Given the description of an element on the screen output the (x, y) to click on. 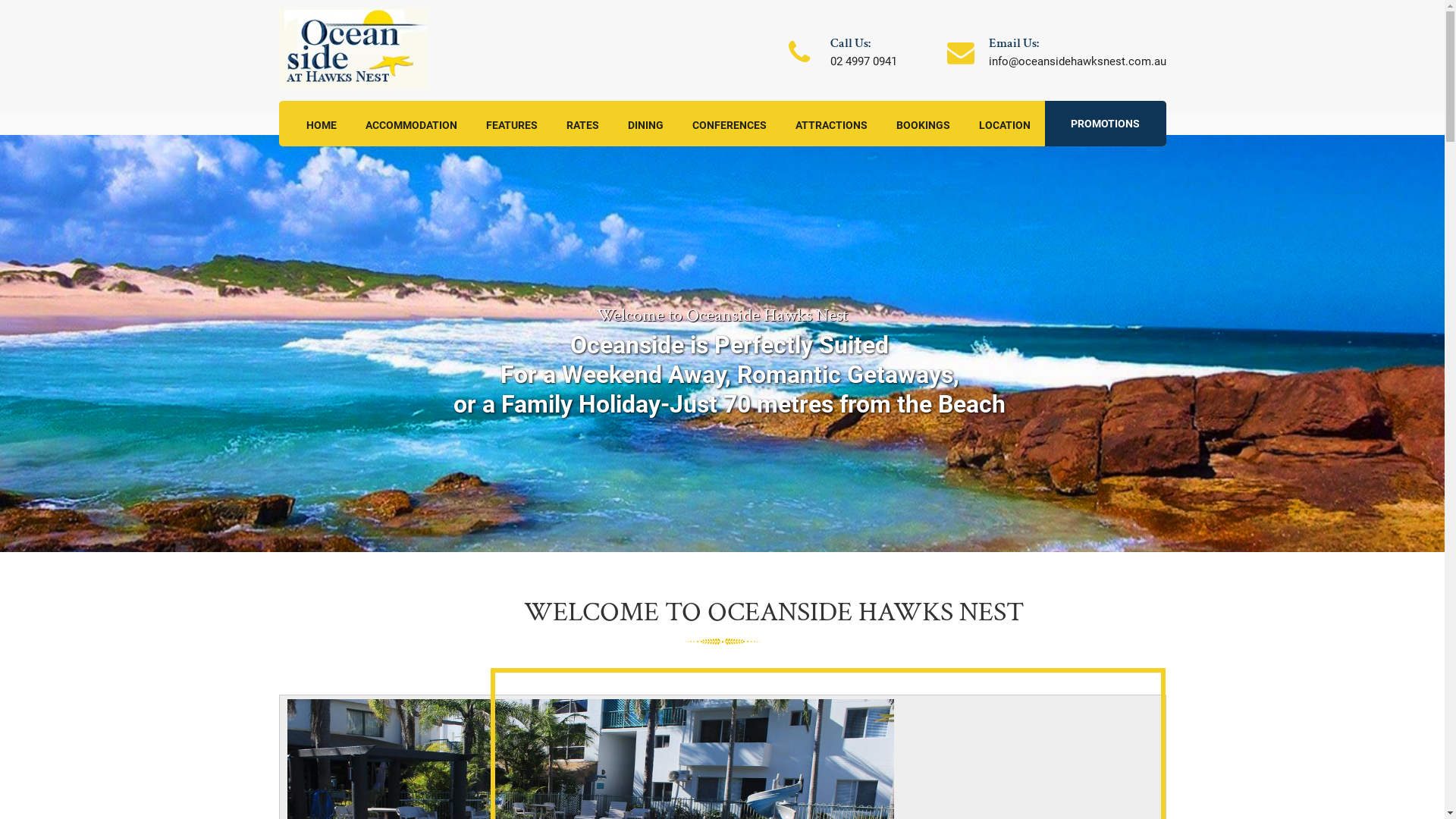
LOCATION Element type: text (1003, 123)
ATTRACTIONS Element type: text (830, 123)
info@oceansidehawksnest.com.au Element type: text (1077, 61)
FEATURES Element type: text (510, 123)
02 4997 0941 Element type: text (862, 61)
ACCOMMODATION Element type: text (411, 123)
BOOKINGS Element type: text (923, 123)
PROMOTIONS Element type: text (1105, 123)
CONFERENCES Element type: text (728, 123)
RATES Element type: text (581, 123)
DINING Element type: text (645, 123)
HOME Element type: text (321, 123)
